Given the description of an element on the screen output the (x, y) to click on. 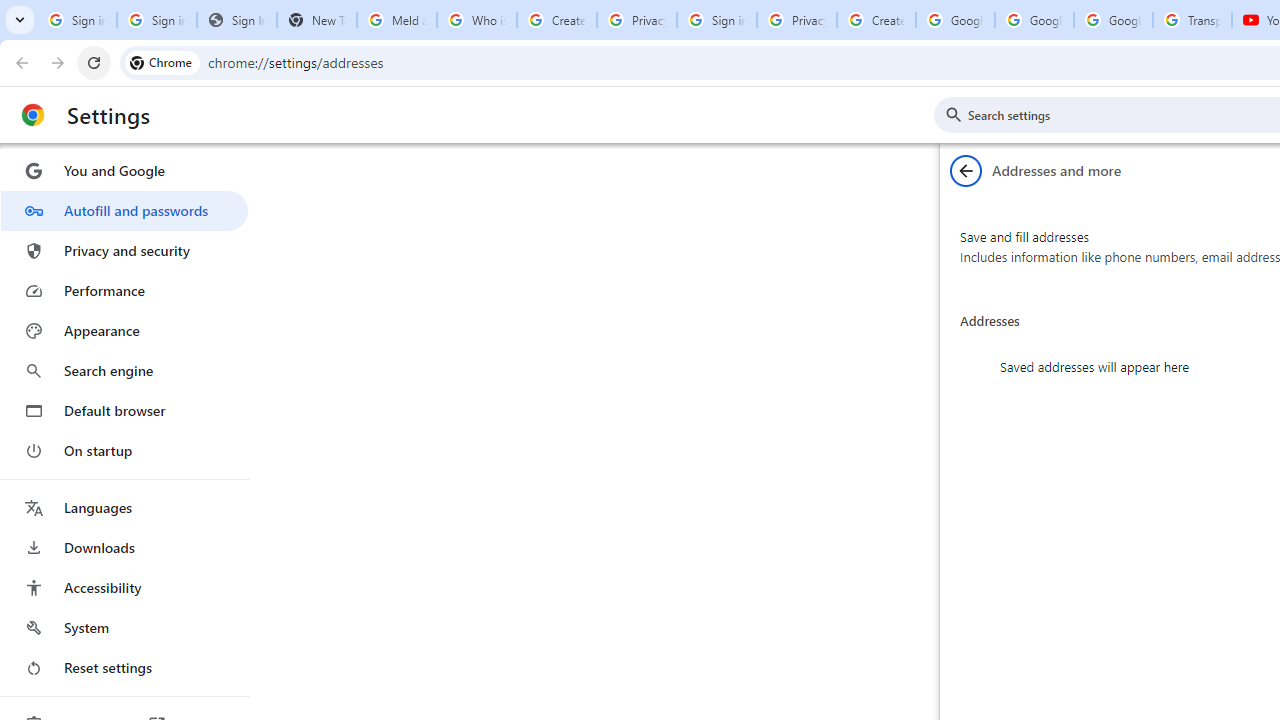
Privacy and security (124, 250)
Who is my administrator? - Google Account Help (476, 20)
